Given the description of an element on the screen output the (x, y) to click on. 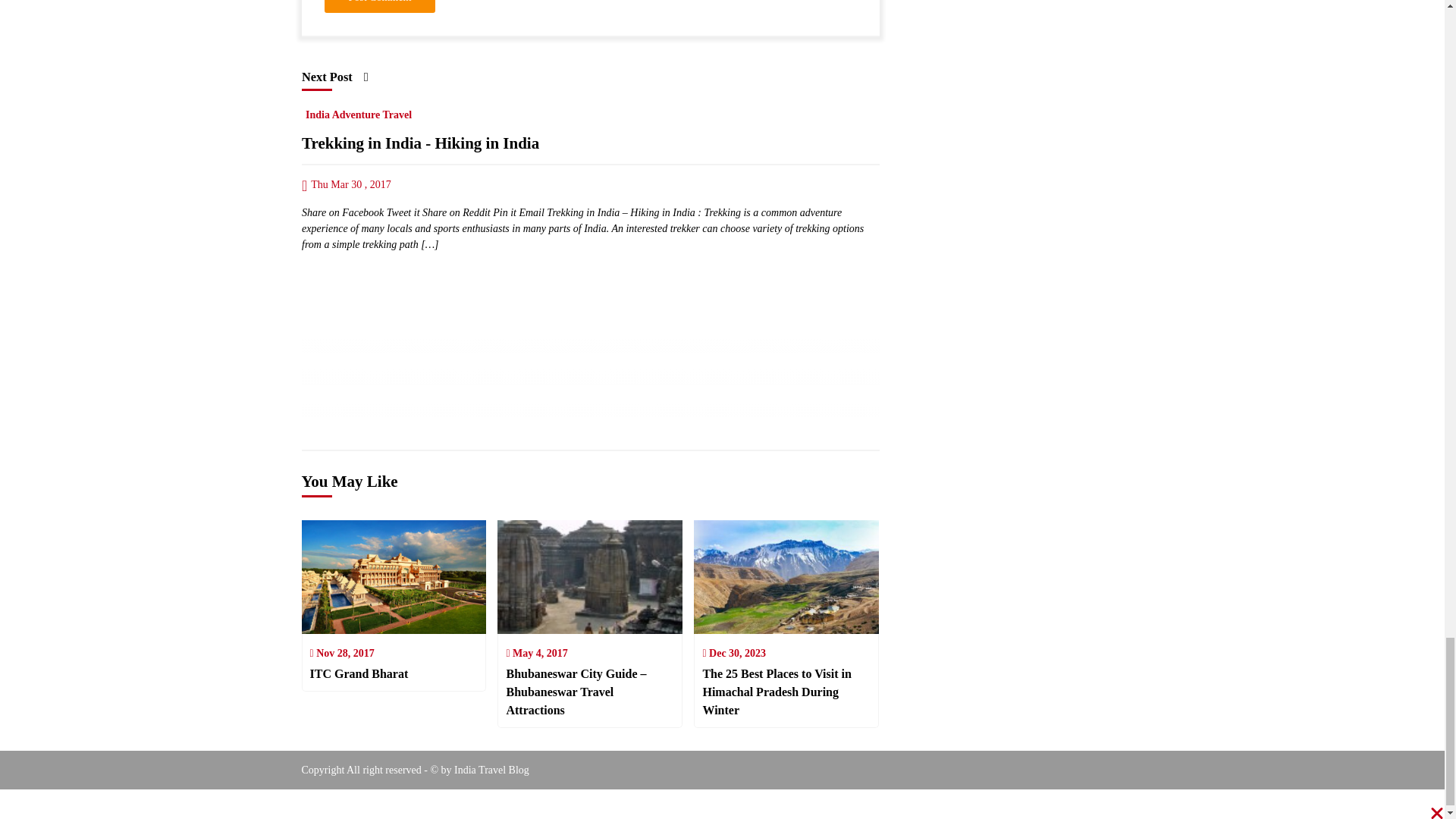
Post Comment (379, 6)
